Given the description of an element on the screen output the (x, y) to click on. 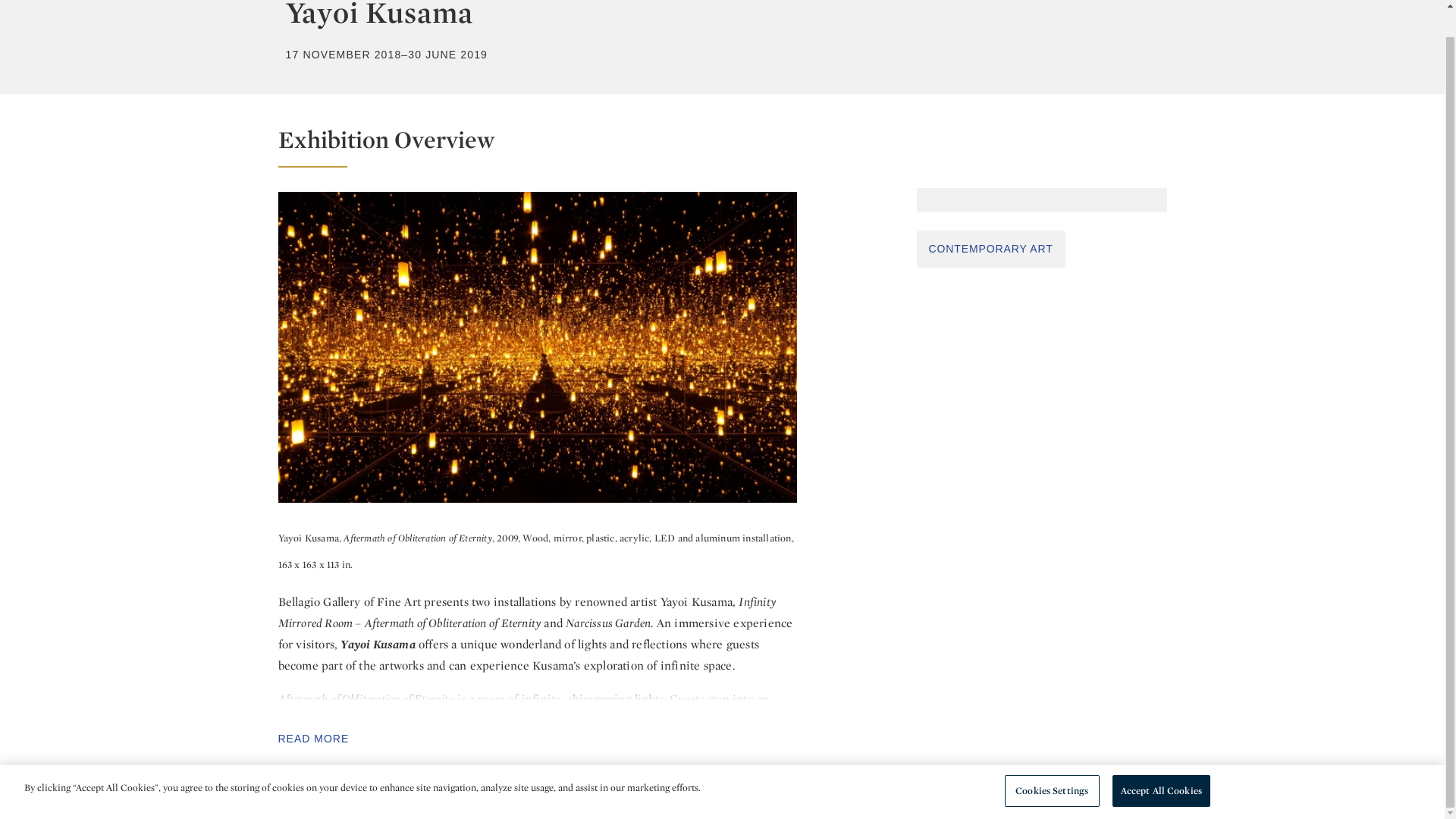
Accept All Cookies (1160, 763)
Cookies Settings (1051, 763)
CONTEMPORARY ART (989, 248)
